Given the description of an element on the screen output the (x, y) to click on. 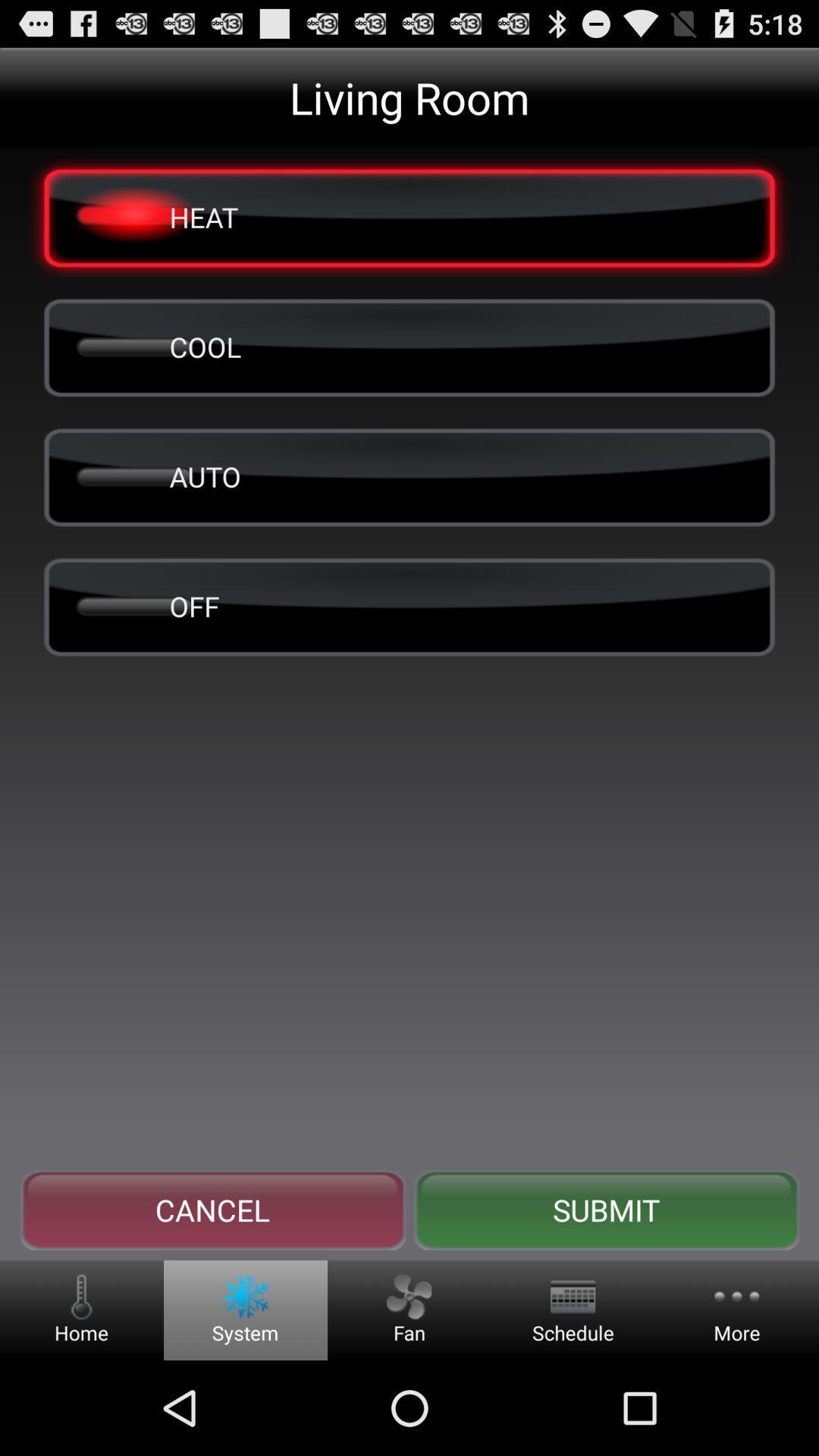
scroll until the heat icon (409, 216)
